Given the description of an element on the screen output the (x, y) to click on. 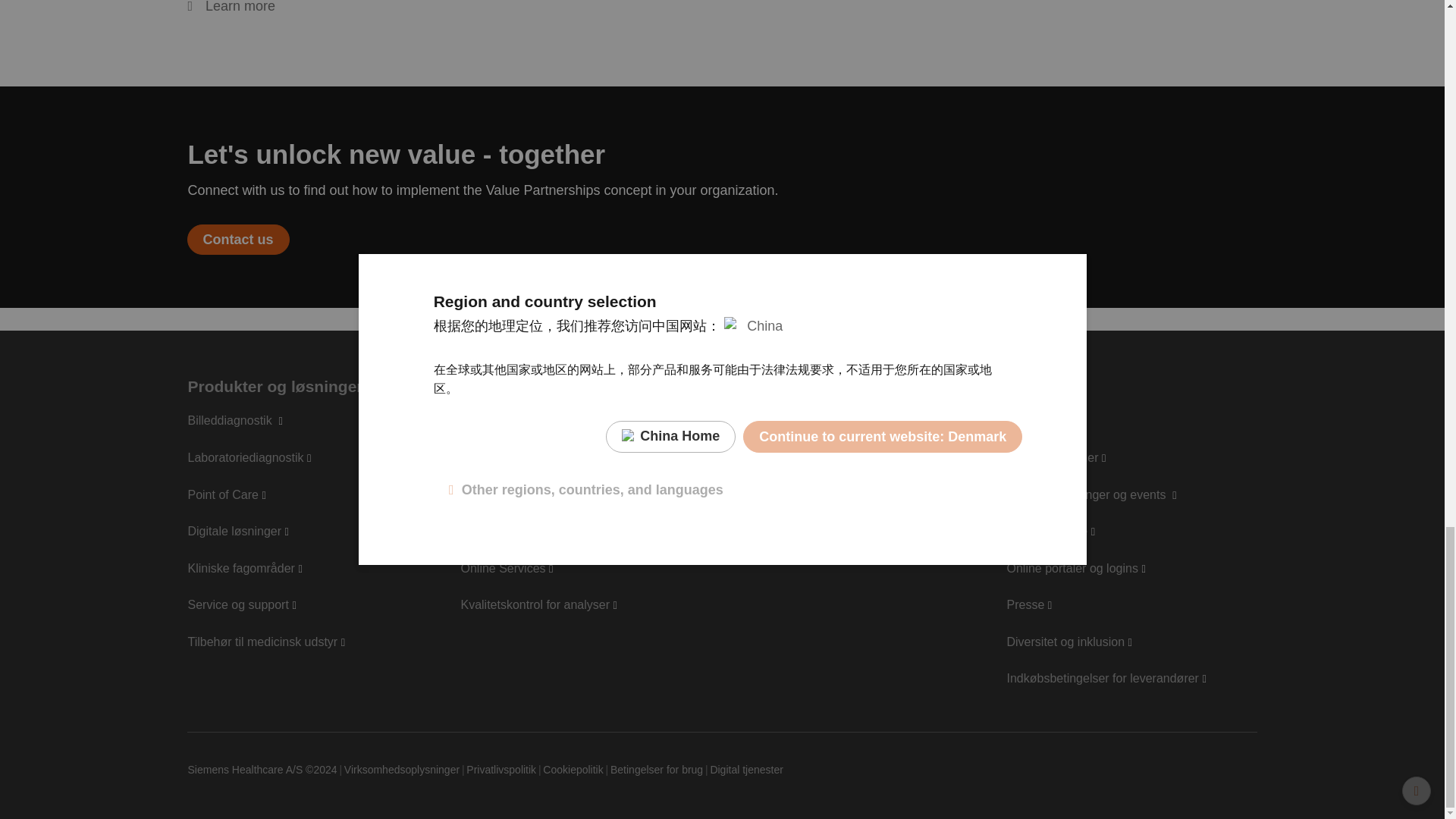
Contact us (237, 239)
Learn more (231, 8)
